Given the description of an element on the screen output the (x, y) to click on. 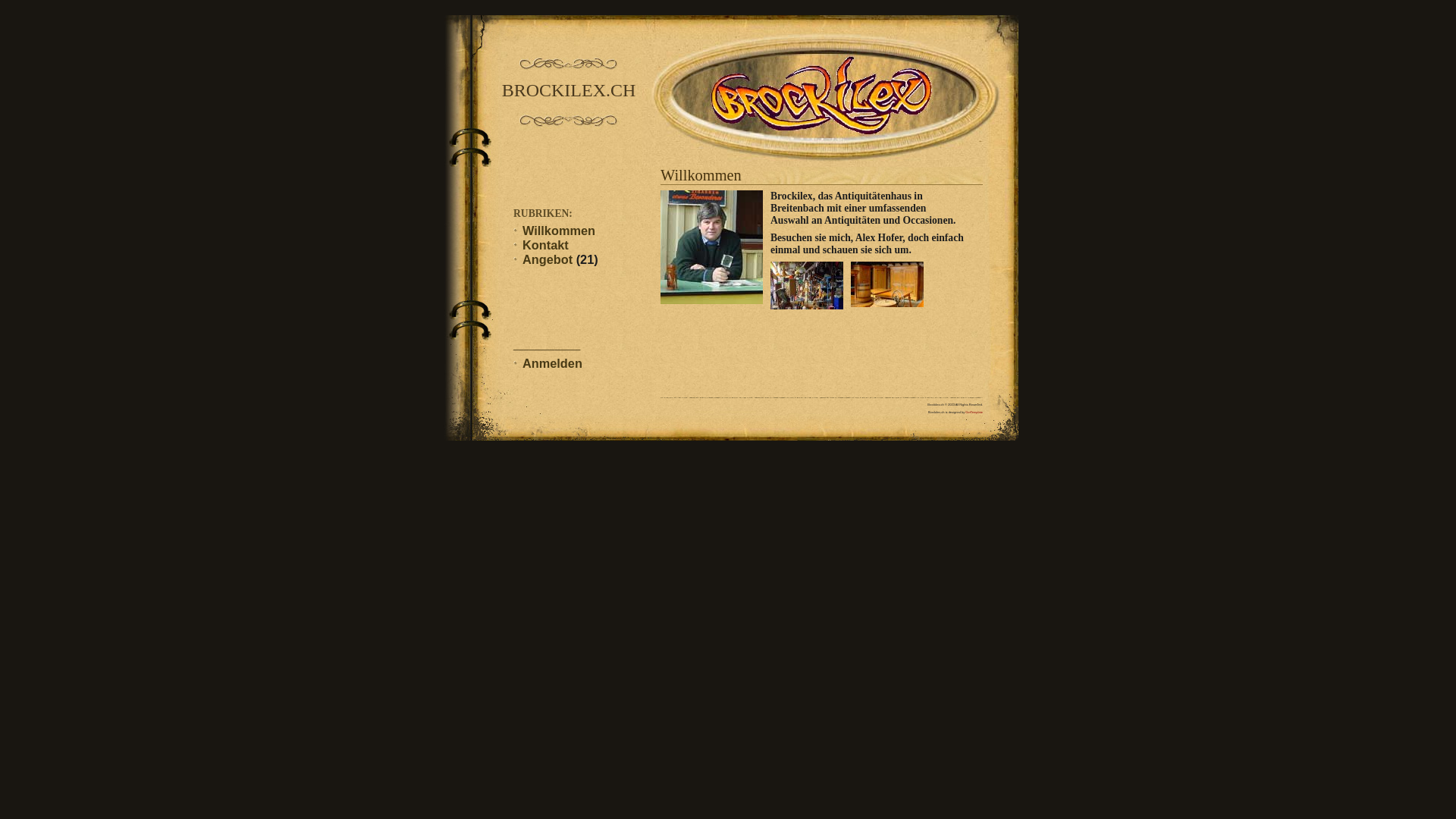
Angebot Element type: text (547, 259)
DSC02995b.jpg Element type: hover (711, 247)
DSC02975.jpg Element type: hover (886, 284)
Anmelden Element type: text (552, 363)
Kontakt Element type: text (545, 244)
Willkommen Element type: text (558, 230)
BROCKILEX.CH Element type: text (568, 90)
DSC02974.jpg Element type: hover (806, 285)
GetTemplate Element type: text (973, 412)
